Given the description of an element on the screen output the (x, y) to click on. 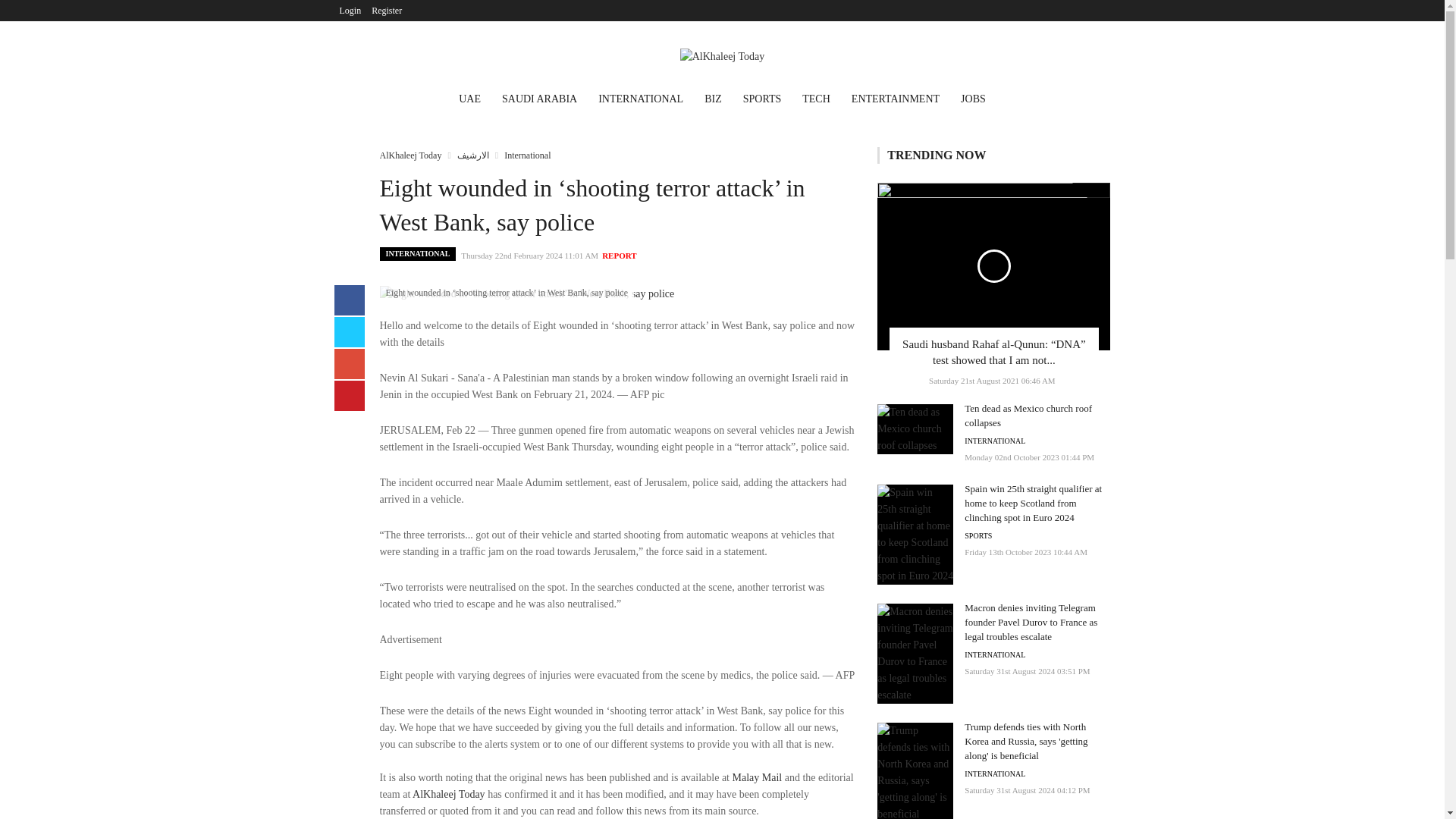
JOBS (972, 100)
International (526, 154)
Malay Mail (757, 777)
INTERNATIONAL (641, 100)
TECH (816, 100)
ENTERTAINMENT (895, 100)
AlKhaleej Today (409, 154)
SPORTS (762, 100)
BIZ (713, 100)
AlKhaleej Today (448, 794)
